Given the description of an element on the screen output the (x, y) to click on. 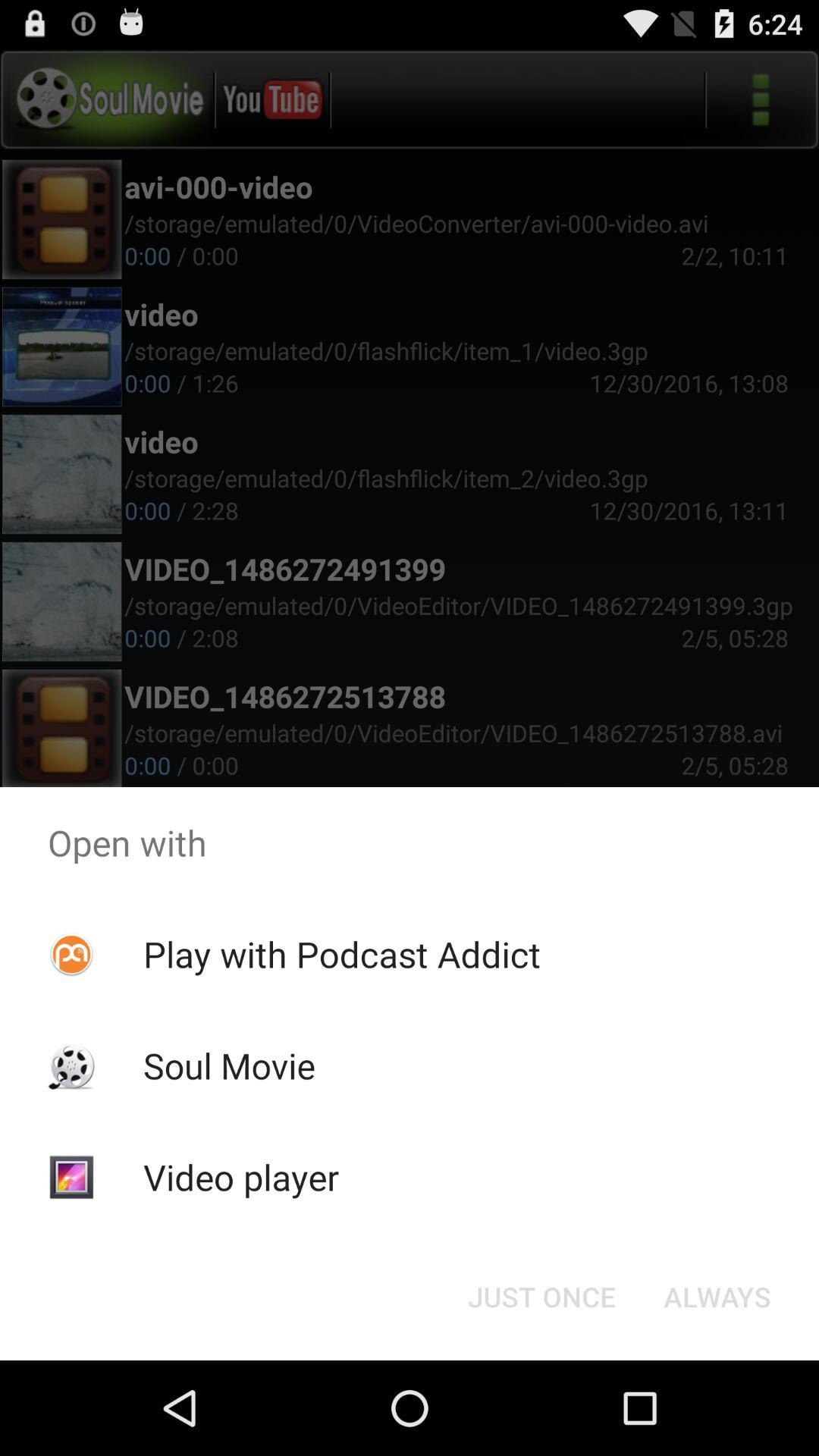
scroll to play with podcast item (341, 953)
